Given the description of an element on the screen output the (x, y) to click on. 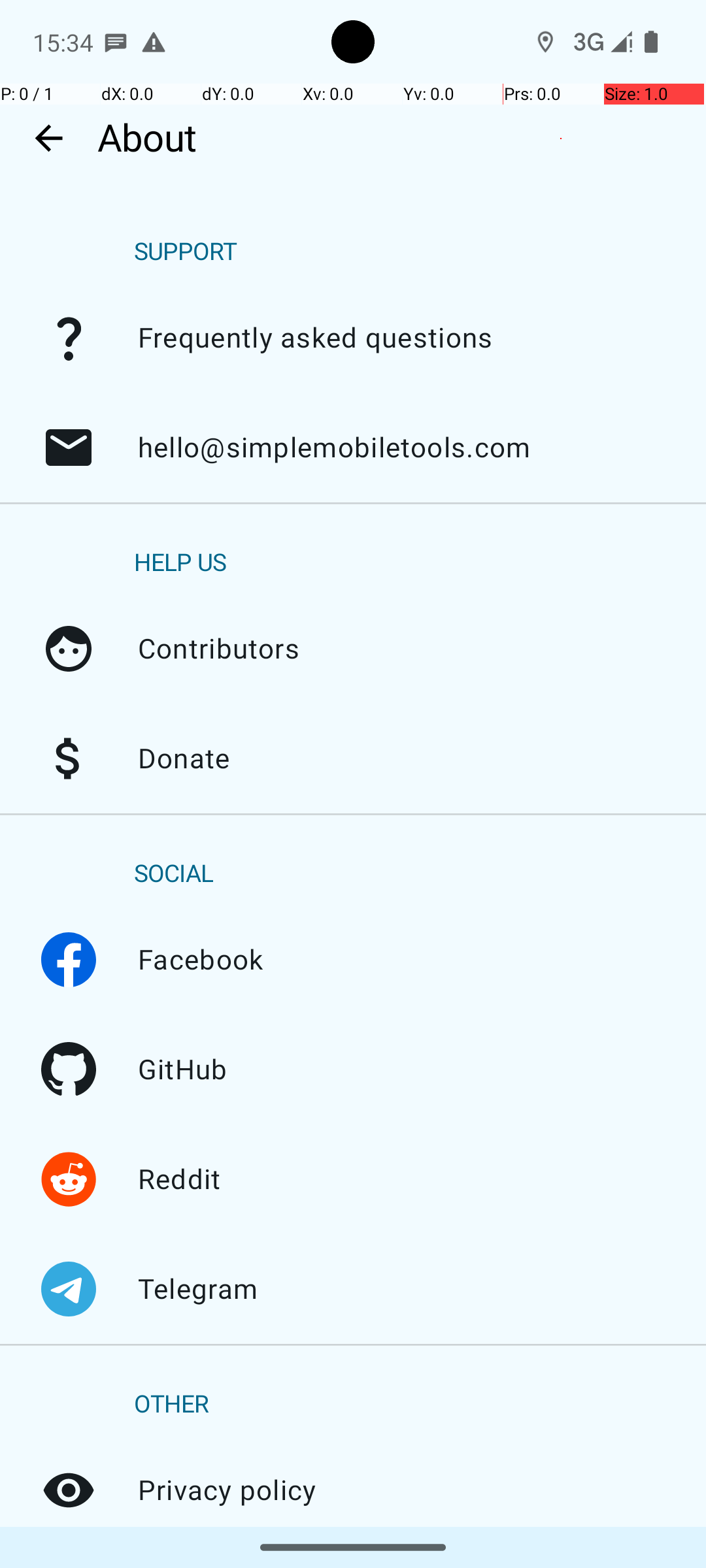
SUPPORT Element type: android.widget.TextView (185, 251)
HELP US Element type: android.widget.TextView (180, 562)
SOCIAL Element type: android.widget.TextView (173, 873)
OTHER Element type: android.widget.TextView (171, 1404)
Frequently asked questions Element type: android.view.View (68, 337)
hello@simplemobiletools.com Element type: android.view.View (68, 447)
Donate Element type: android.view.View (68, 758)
Facebook Element type: android.view.View (68, 959)
GitHub Element type: android.view.View (68, 1069)
Reddit Element type: android.view.View (68, 1178)
Telegram Element type: android.view.View (68, 1288)
Privacy policy Element type: android.view.View (68, 1489)
